Given the description of an element on the screen output the (x, y) to click on. 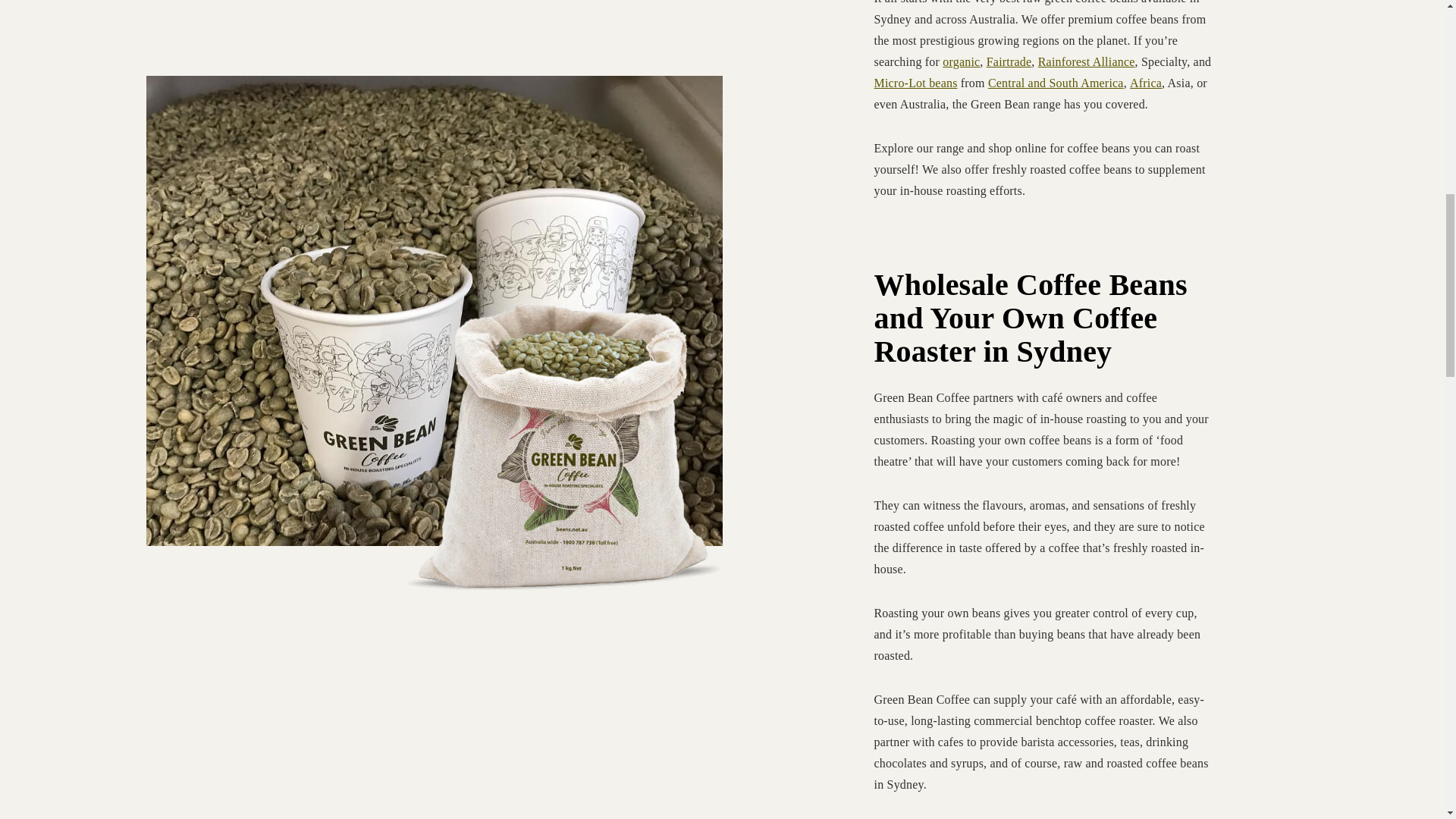
green-coffee-bean (562, 305)
